Given the description of an element on the screen output the (x, y) to click on. 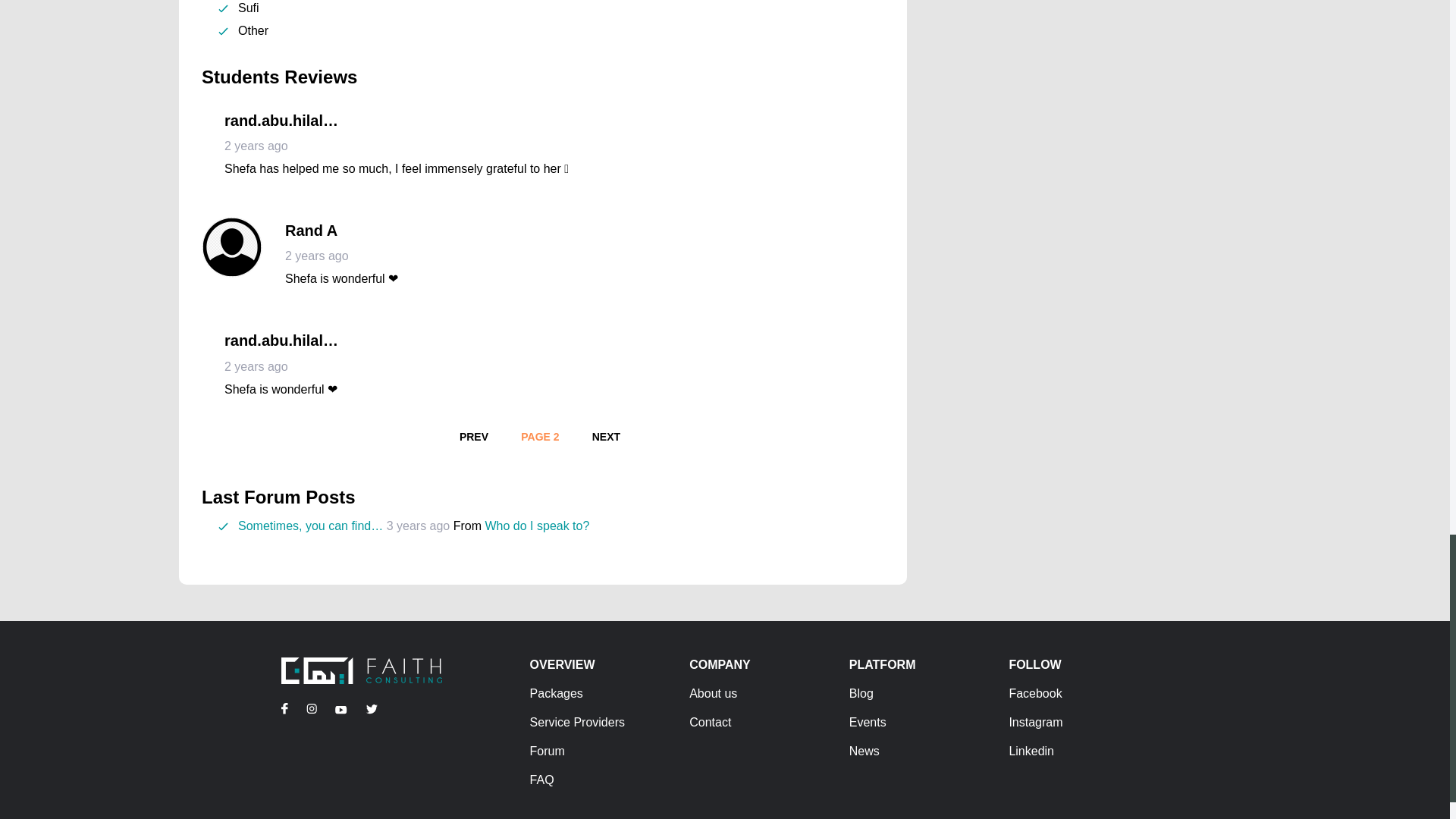
Rand A (605, 437)
Who do I speak to? (311, 230)
Youtube (536, 525)
Go to previous page (340, 708)
Go to next page (472, 437)
Instagram (605, 437)
Twitter (311, 708)
